Given the description of an element on the screen output the (x, y) to click on. 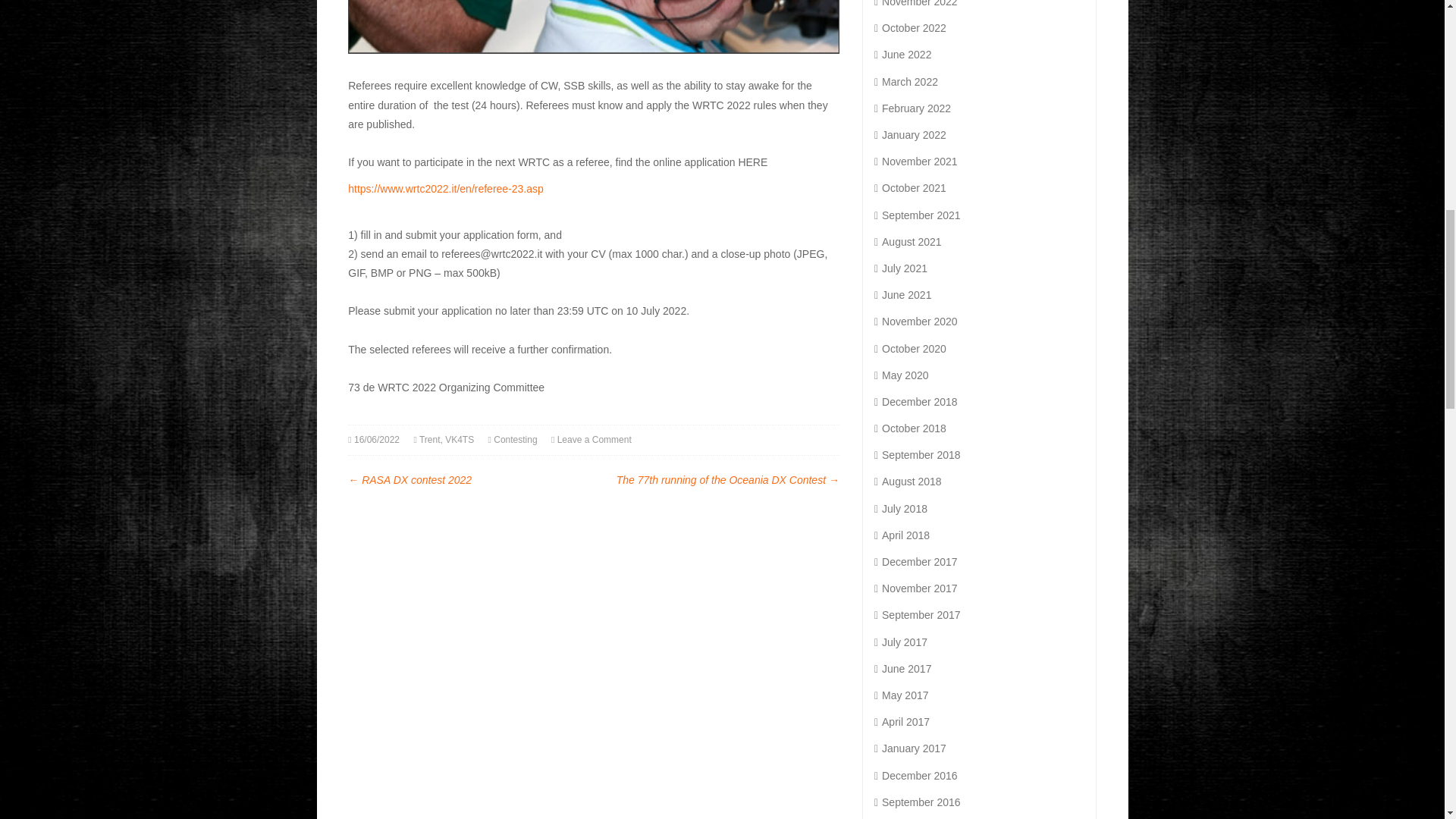
February 2022 (912, 108)
Trent, VK4TS (446, 439)
March 2022 (906, 81)
Contesting (515, 439)
October 2022 (910, 28)
June 2022 (903, 54)
November 2022 (916, 3)
Leave a Comment (594, 439)
